Given the description of an element on the screen output the (x, y) to click on. 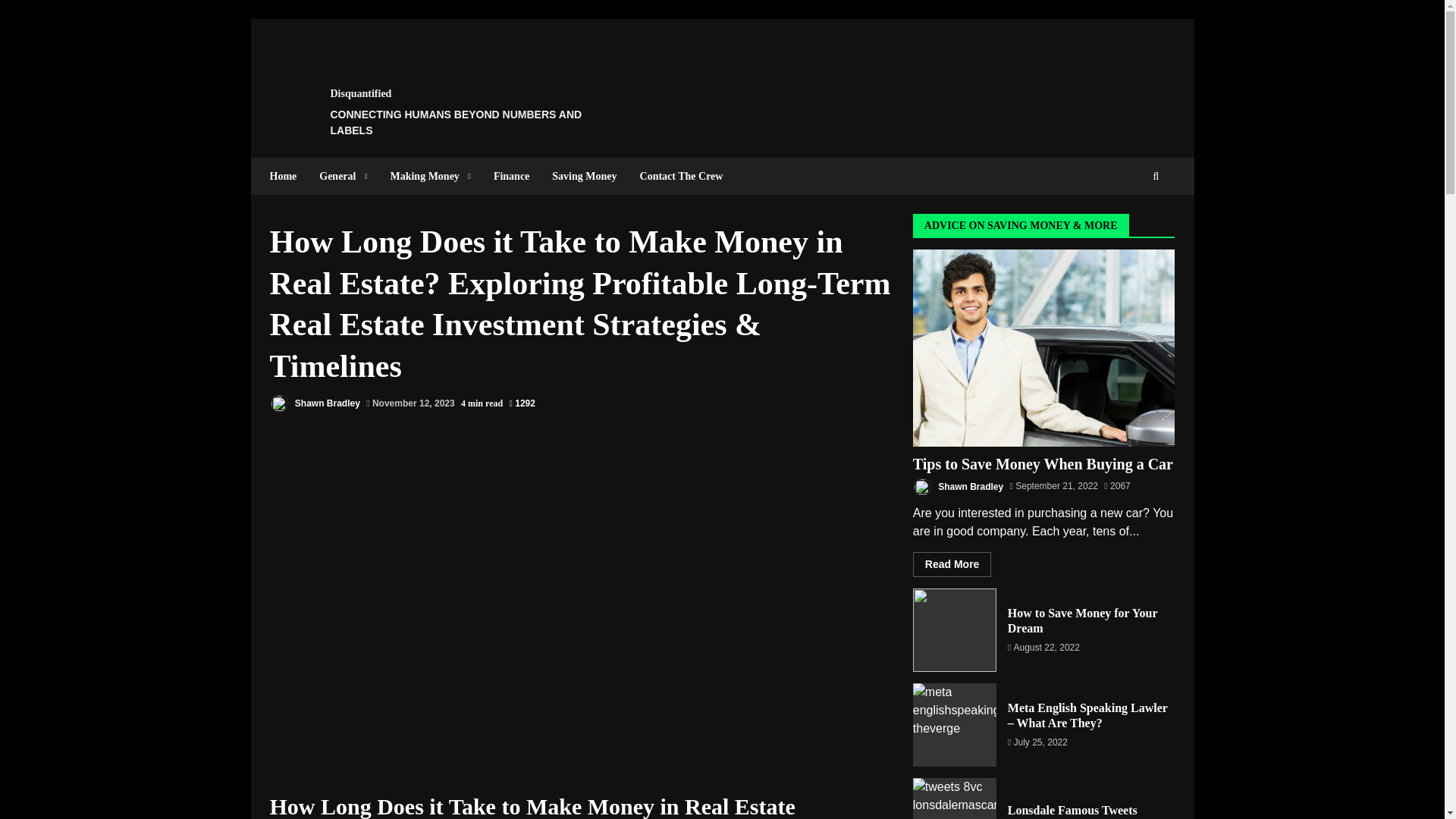
Contact The Crew (675, 176)
General (342, 176)
1292 (521, 403)
Saving Money (583, 176)
Shawn Bradley (314, 403)
Search (1128, 222)
Home (288, 176)
Making Money (429, 176)
Disquantified (360, 93)
Finance (510, 176)
